Given the description of an element on the screen output the (x, y) to click on. 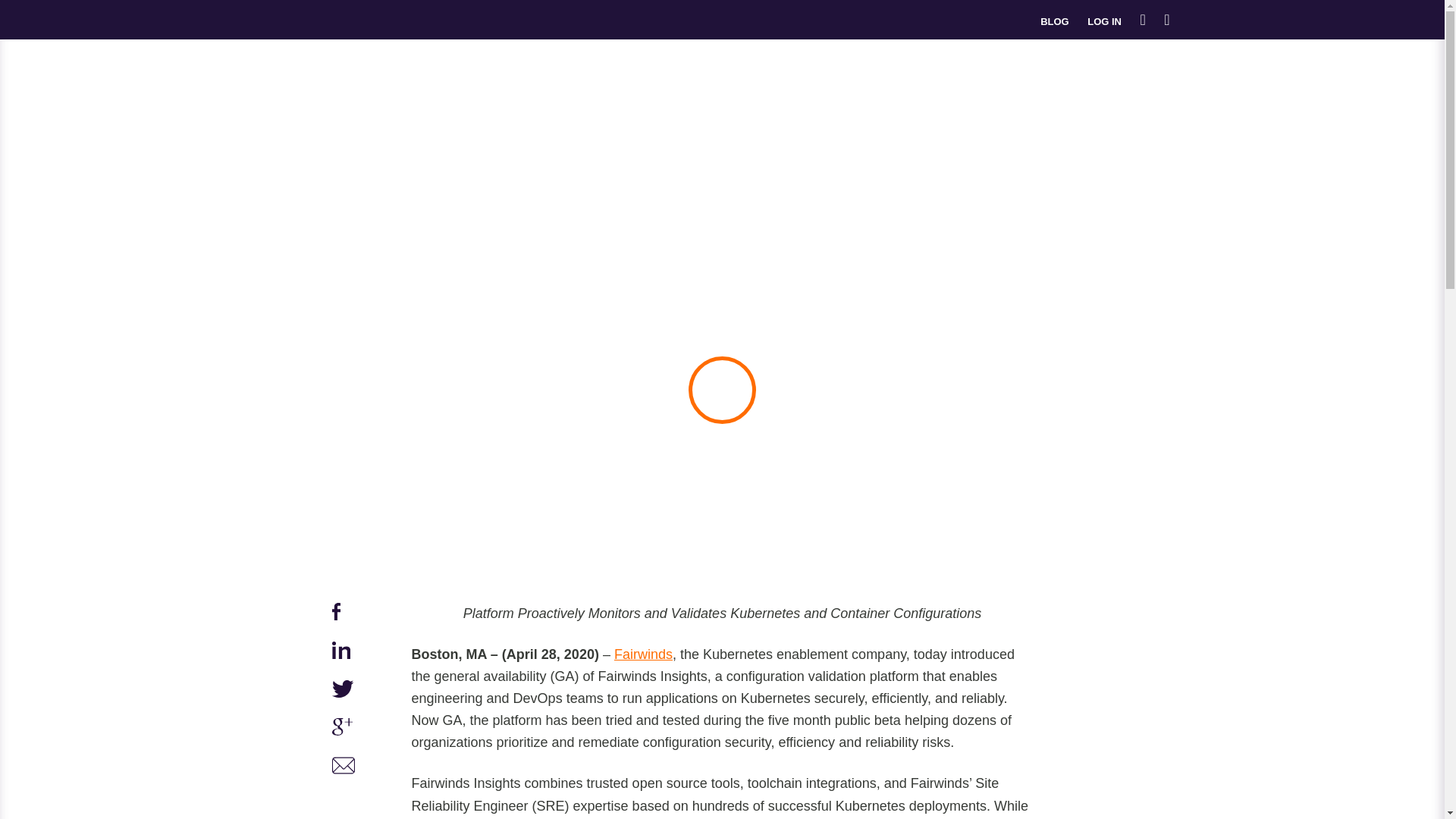
Managed Kubernetes (665, 66)
LOG IN (1104, 21)
Resources (1126, 66)
Cloud Providers (795, 66)
About (1050, 66)
Software (983, 66)
Open Source (898, 66)
BLOG (1054, 21)
IaaM - Infrastructure as a Motorcycle (343, 768)
